Given the description of an element on the screen output the (x, y) to click on. 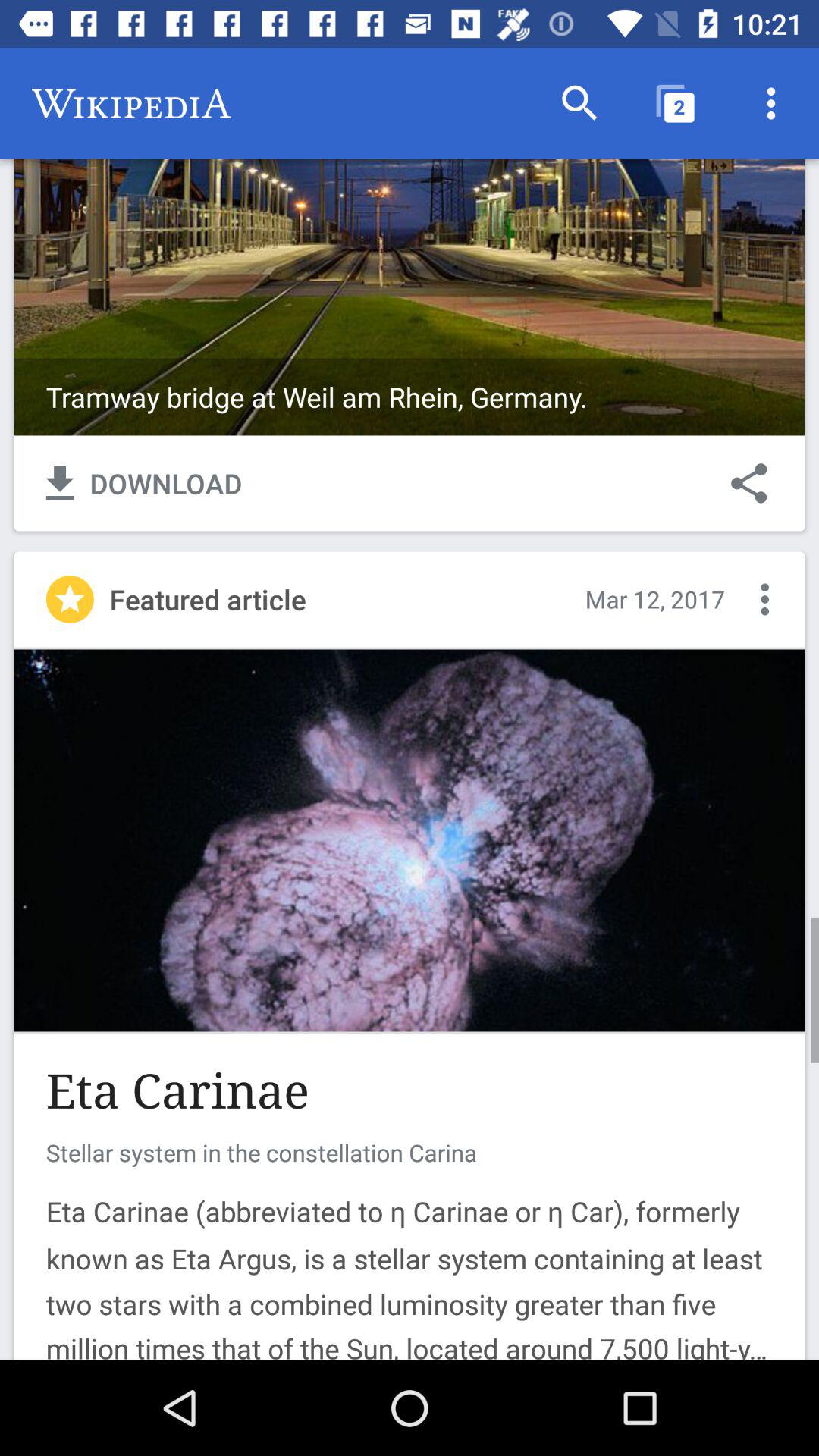
option additional options and settings (764, 599)
